Given the description of an element on the screen output the (x, y) to click on. 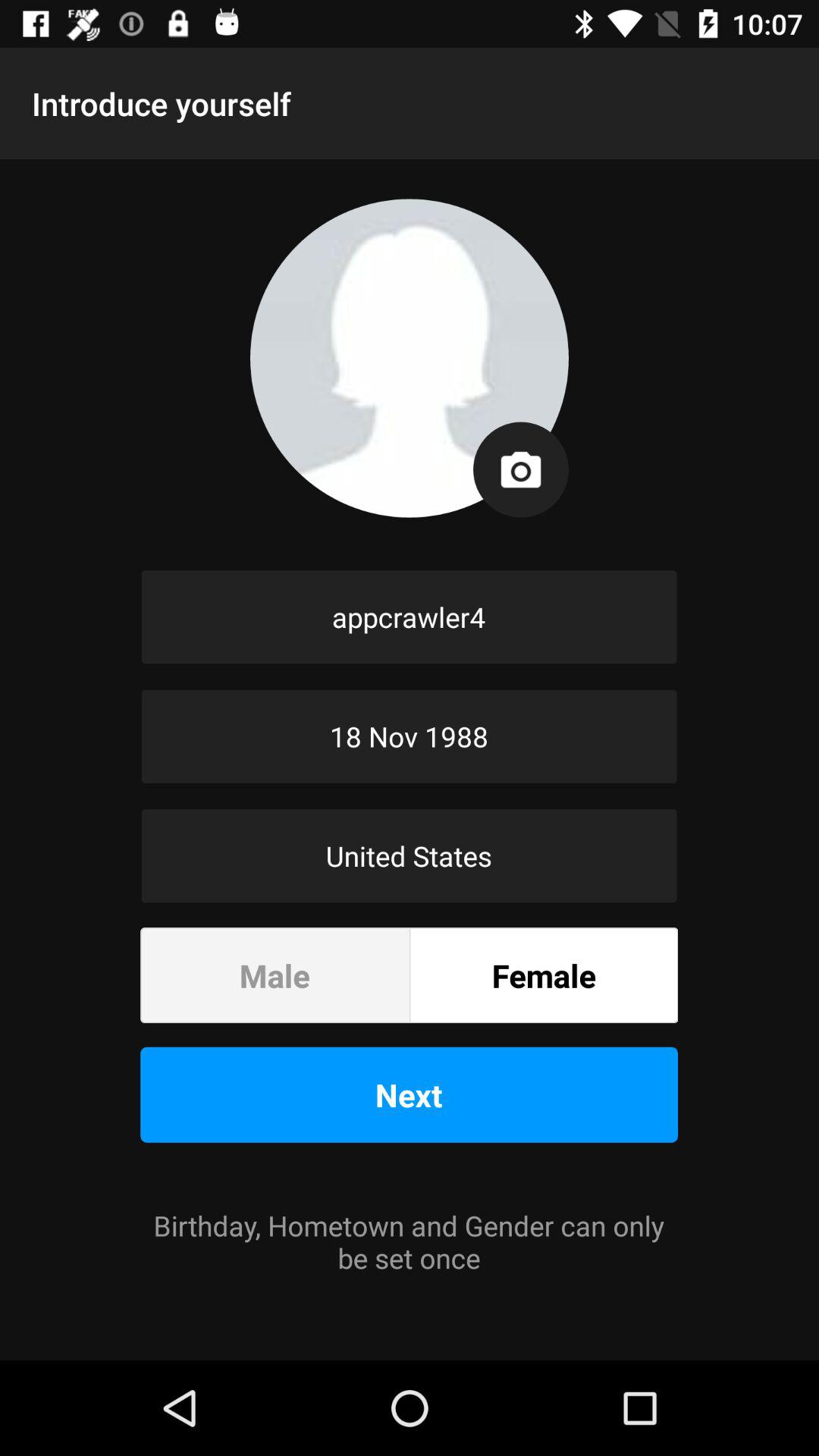
press the male (274, 975)
